Given the description of an element on the screen output the (x, y) to click on. 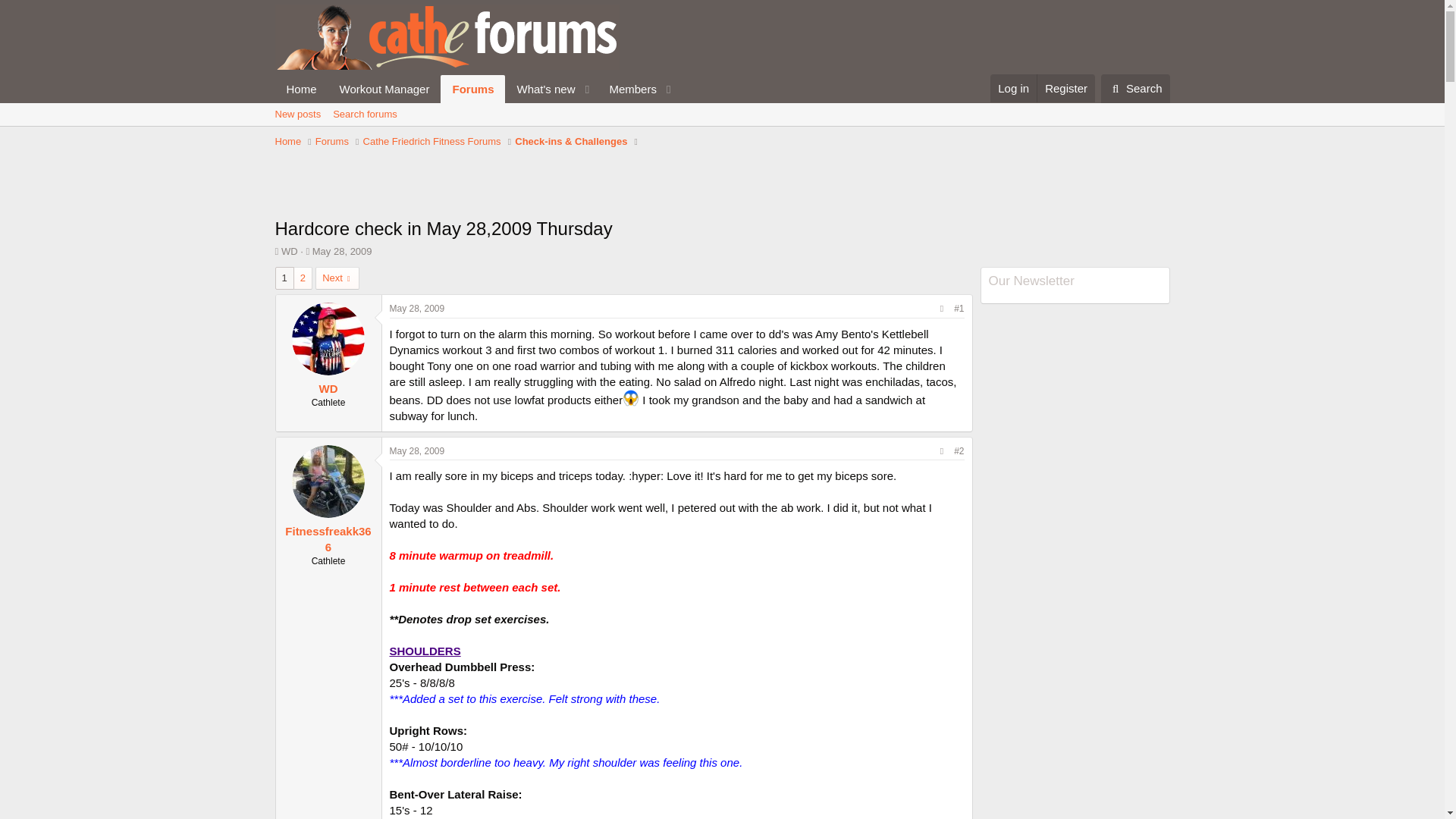
Search (1135, 88)
May 28, 2009 at 5:50 AM (475, 89)
May 28, 2009 at 6:24 AM (417, 308)
Home (417, 450)
Log in (288, 141)
New posts (1013, 88)
May 28, 2009 at 5:50 AM (296, 114)
Forums (342, 251)
What's new (332, 141)
